Given the description of an element on the screen output the (x, y) to click on. 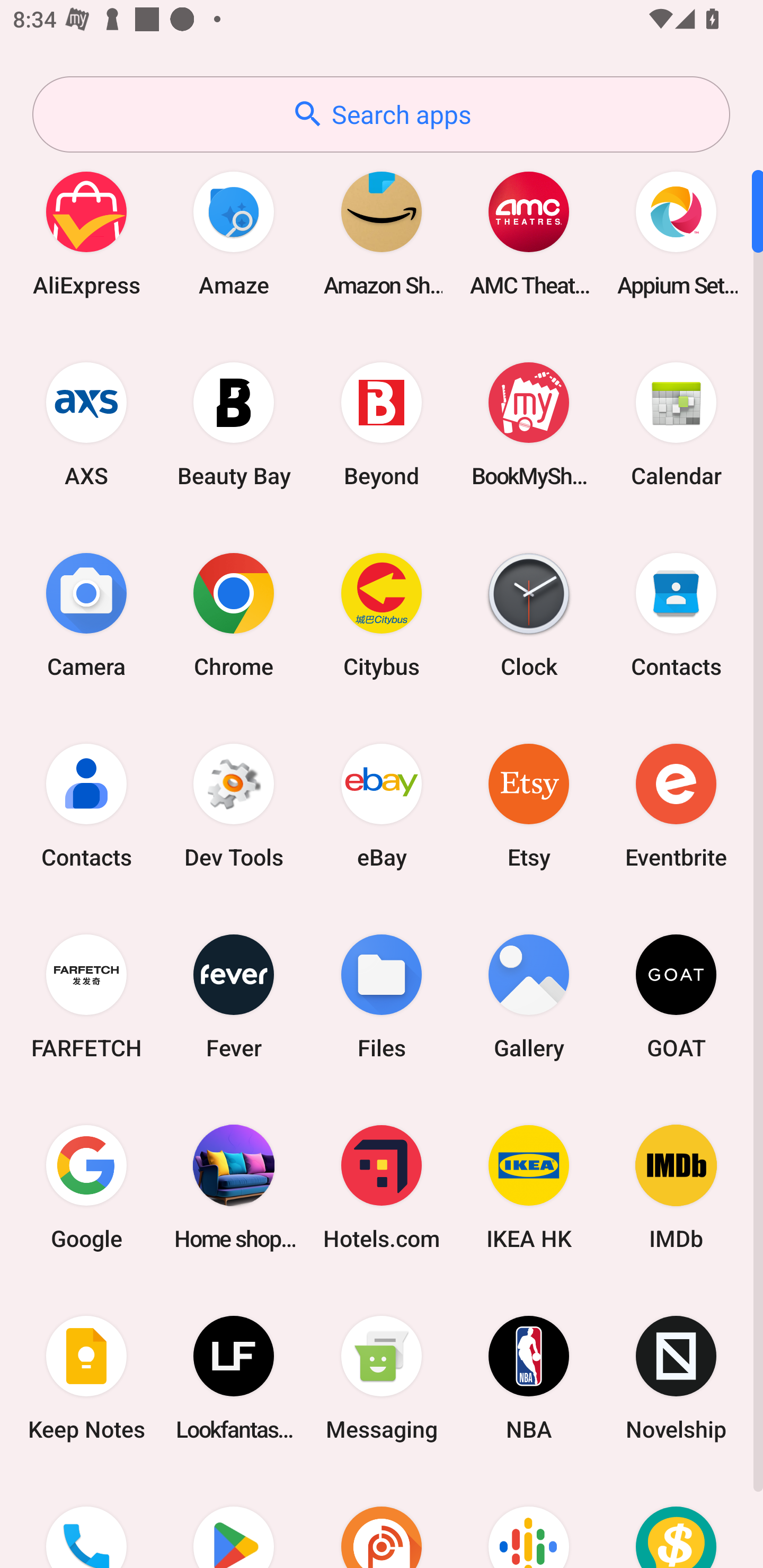
  Search apps (381, 114)
AliExpress (86, 233)
Amaze (233, 233)
Amazon Shopping (381, 233)
AMC Theatres (528, 233)
Appium Settings (676, 233)
AXS (86, 424)
Beauty Bay (233, 424)
Beyond (381, 424)
BookMyShow (528, 424)
Calendar (676, 424)
Camera (86, 614)
Chrome (233, 614)
Citybus (381, 614)
Clock (528, 614)
Contacts (676, 614)
Contacts (86, 805)
Dev Tools (233, 805)
eBay (381, 805)
Etsy (528, 805)
Eventbrite (676, 805)
FARFETCH (86, 996)
Fever (233, 996)
Files (381, 996)
Gallery (528, 996)
GOAT (676, 996)
Google (86, 1186)
Home shopping (233, 1186)
Hotels.com (381, 1186)
IKEA HK (528, 1186)
IMDb (676, 1186)
Keep Notes (86, 1377)
Lookfantastic (233, 1377)
Messaging (381, 1377)
NBA (528, 1377)
Novelship (676, 1377)
Phone (86, 1520)
Play Store (233, 1520)
Podcast Addict (381, 1520)
Podcasts (528, 1520)
Price (676, 1520)
